Given the description of an element on the screen output the (x, y) to click on. 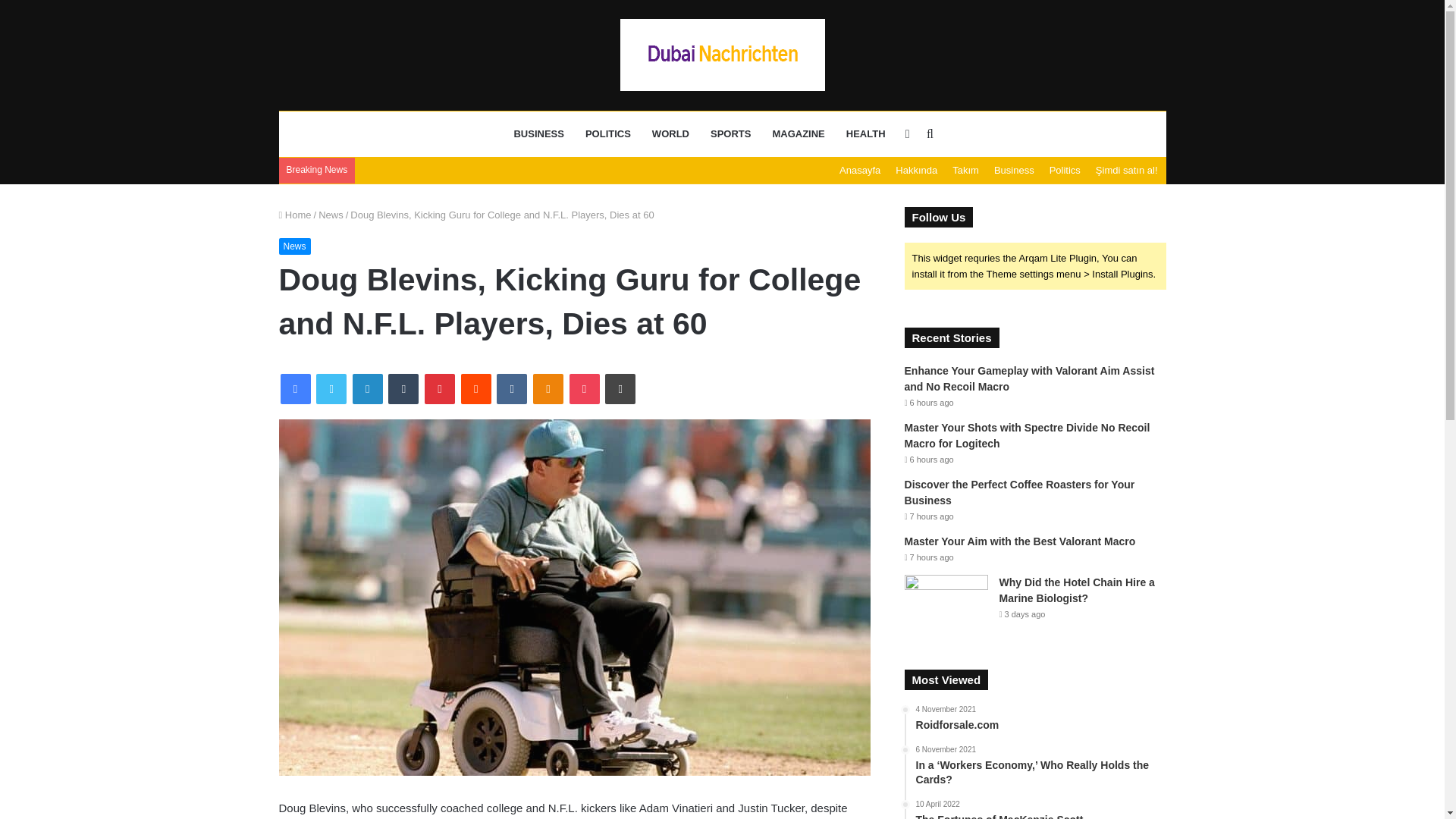
News (295, 246)
Home (295, 214)
VKontakte (511, 388)
Anasayfa (859, 170)
Twitter (330, 388)
LinkedIn (367, 388)
Print (619, 388)
Pinterest (439, 388)
WORLD (671, 134)
LinkedIn (367, 388)
